Given the description of an element on the screen output the (x, y) to click on. 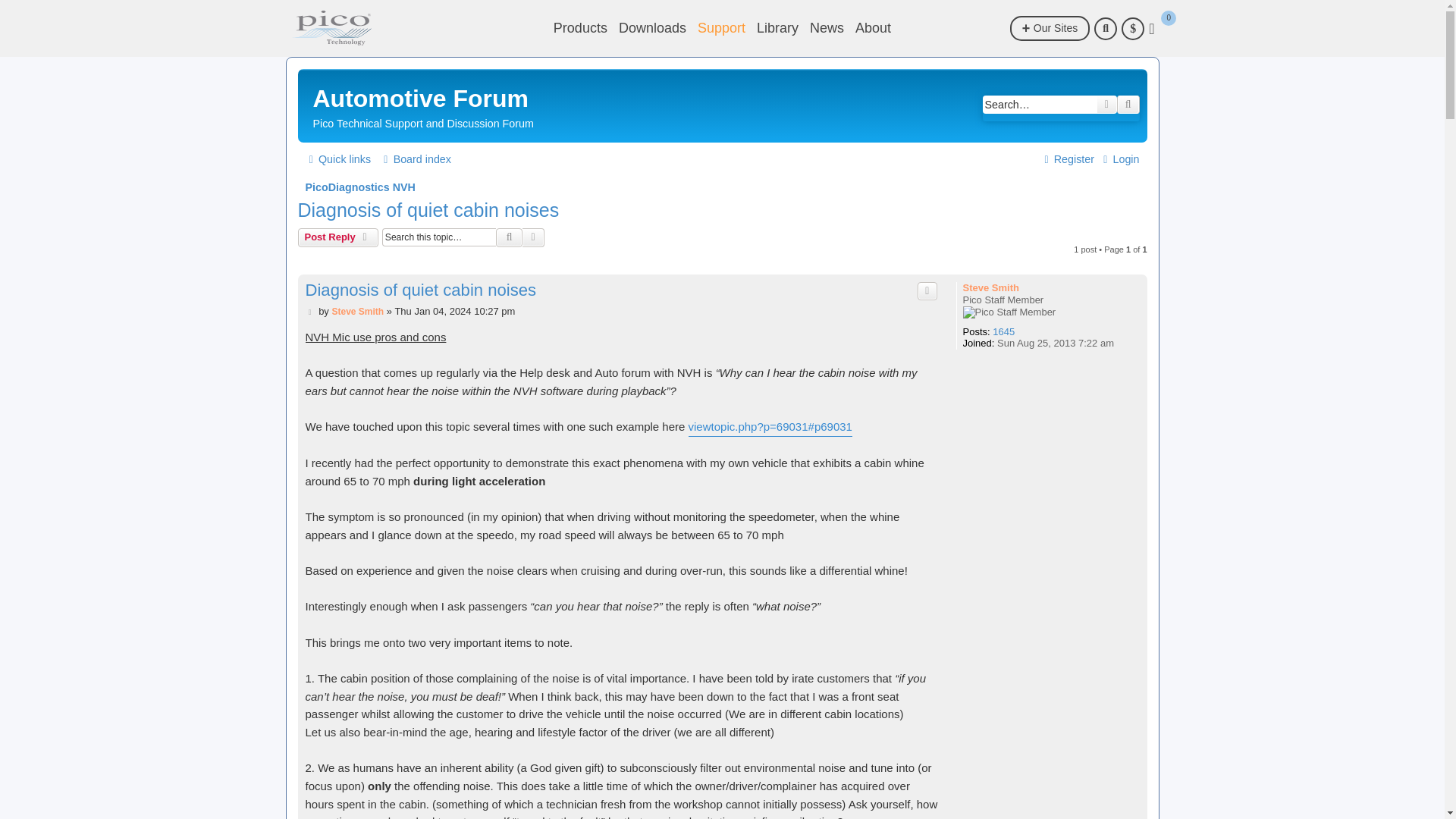
Advanced search (1107, 104)
Search for keywords (1039, 104)
Login (1118, 159)
Products (580, 28)
Search (1128, 104)
Post a reply (337, 237)
Advanced search (533, 237)
Downloads (651, 28)
Pico Staff Member (1009, 312)
Search (509, 237)
Reply with quote (927, 290)
